Given the description of an element on the screen output the (x, y) to click on. 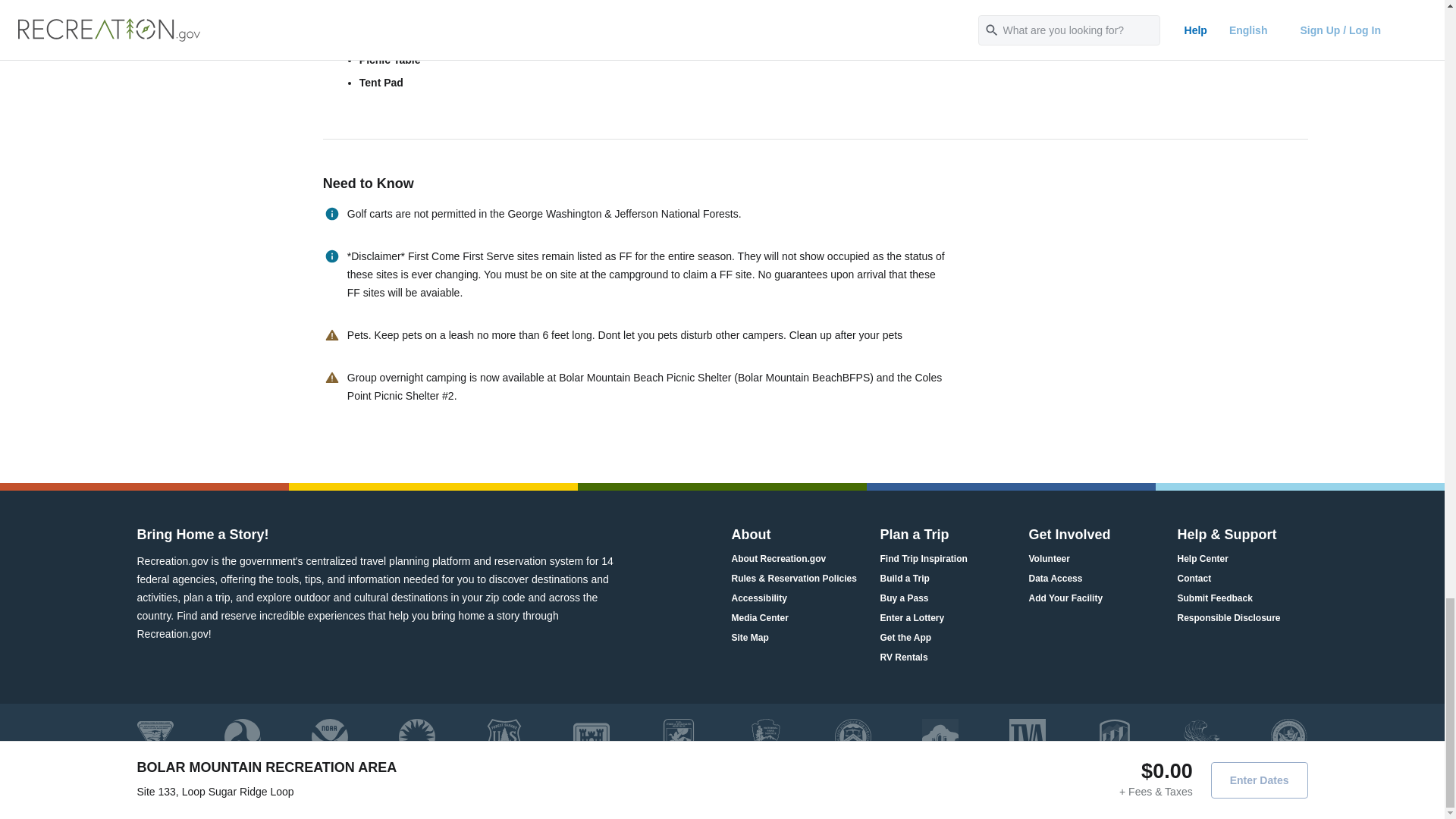
Enter a Lottery (911, 618)
Media Center (758, 618)
Submit Feedback (1214, 598)
Add Your Facility (1064, 598)
Help Center (1201, 559)
Build a Trip (903, 578)
RV Rentals (903, 657)
Contact (1193, 578)
Find Trip Inspiration (922, 559)
Accessibility (758, 598)
